Given the description of an element on the screen output the (x, y) to click on. 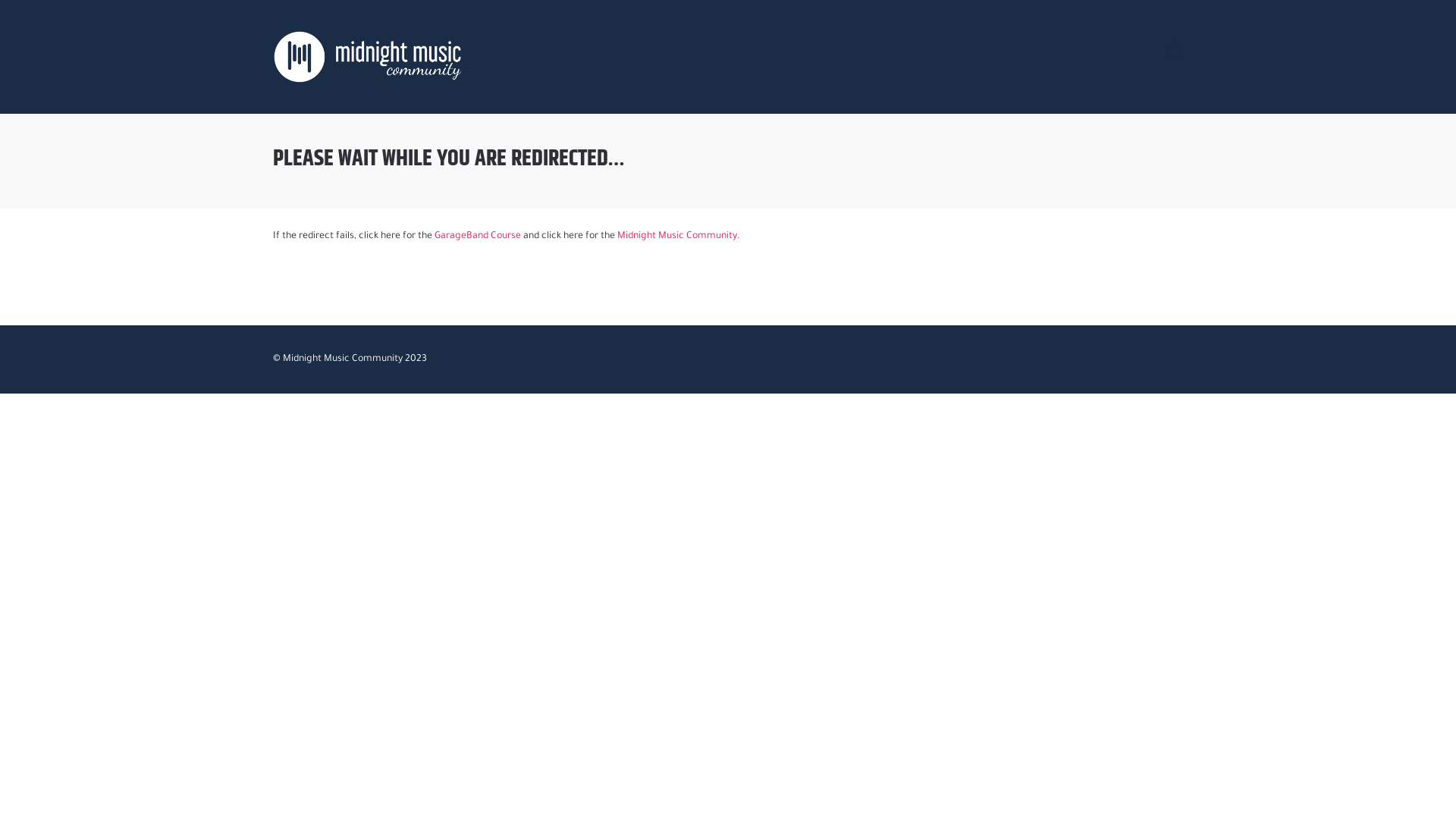
COMMUNITY | MIDNIGHT MUSIC Element type: text (367, 56)
Midnight Music Community Element type: text (677, 236)
GarageBand Course Element type: text (477, 236)
